Given the description of an element on the screen output the (x, y) to click on. 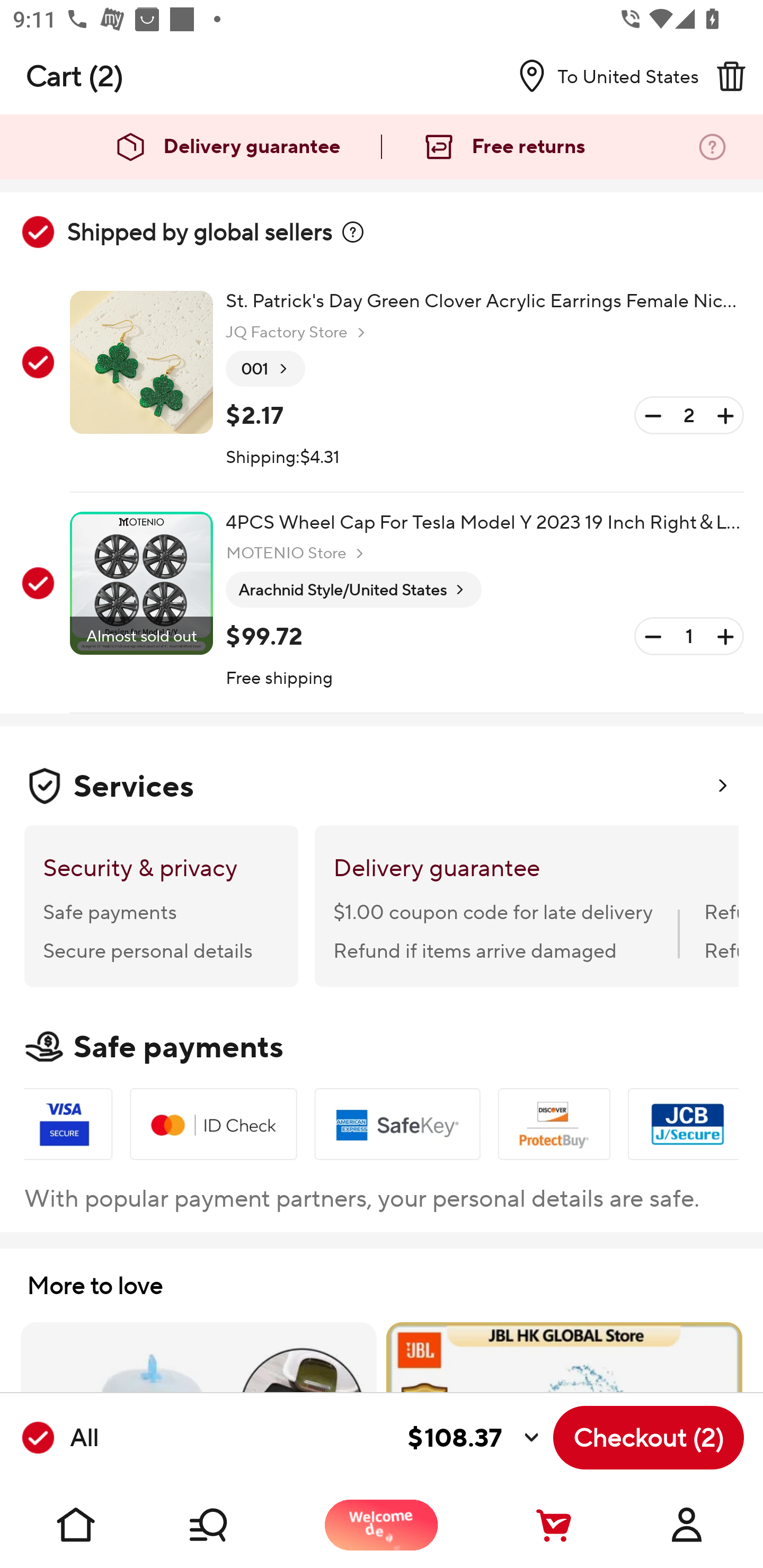
 To United States (601, 75)
 (730, 75)
 (352, 231)
JQ Factory Store (297, 333)
001 (265, 369)
2 (688, 415)
MOTENIO Store (296, 553)
Arachnid Style/United States (353, 590)
1 (688, 636)
$_108.37  (324, 1437)
Checkout (2) (648, 1437)
Home (76, 1524)
Shop (228, 1524)
Account (686, 1524)
